Given the description of an element on the screen output the (x, y) to click on. 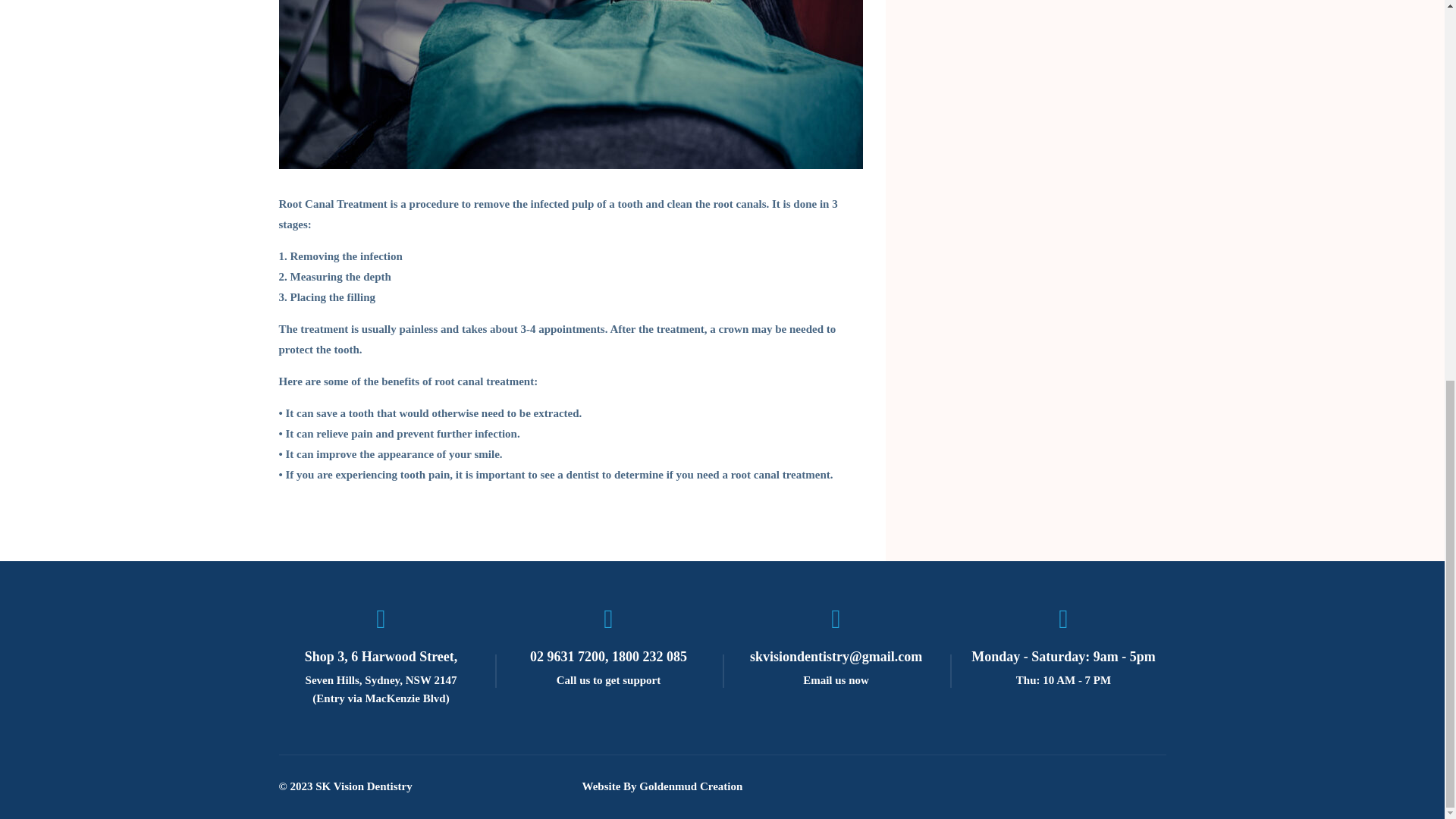
02 9631 7200, 1800 232 085 (608, 656)
